Given the description of an element on the screen output the (x, y) to click on. 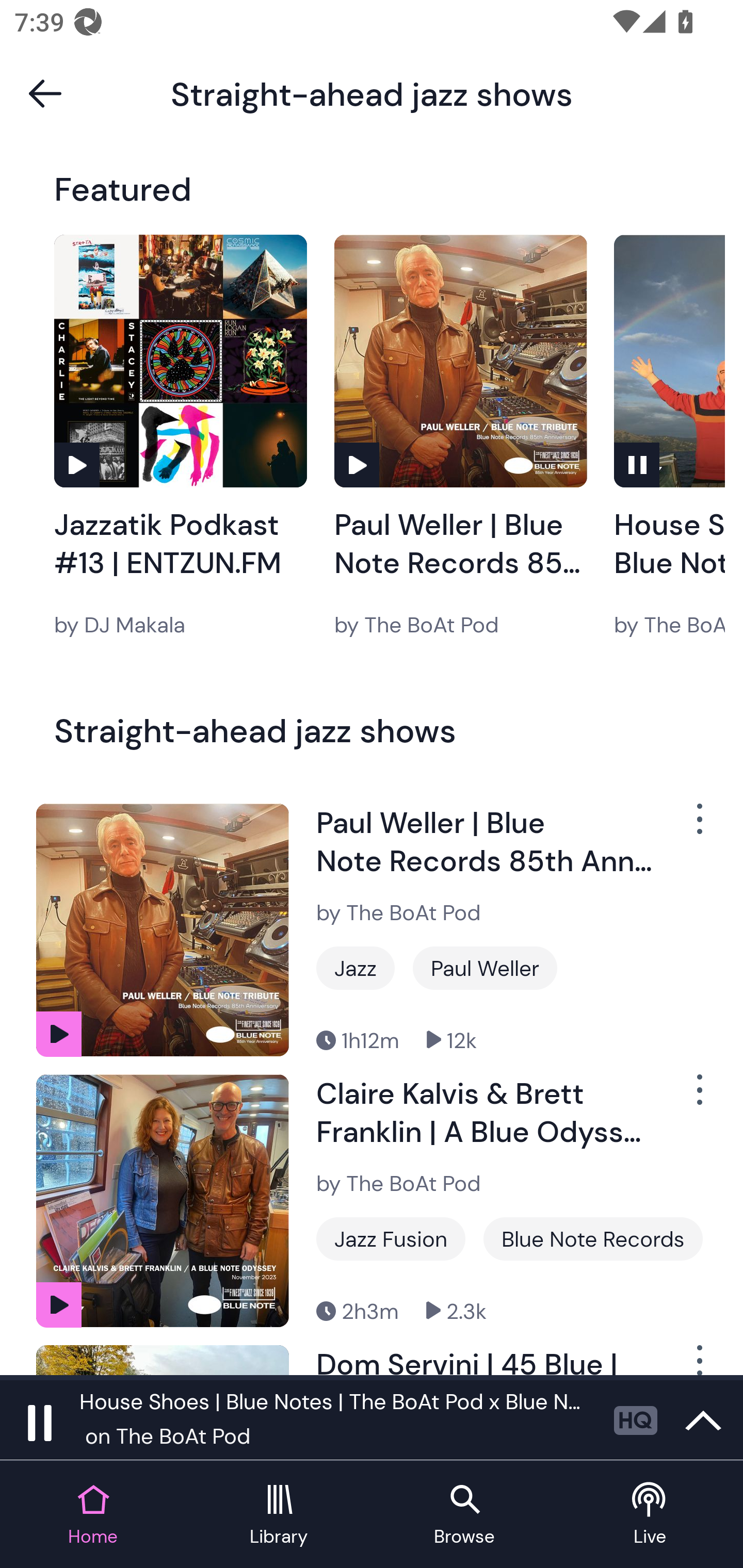
Show Options Menu Button (697, 825)
Jazz (355, 968)
Paul Weller (485, 968)
Show Options Menu Button (697, 1097)
Jazz Fusion (390, 1238)
Blue Note Records (592, 1238)
Show Options Menu Button (697, 1360)
Home tab Home (92, 1515)
Library tab Library (278, 1515)
Browse tab Browse (464, 1515)
Live tab Live (650, 1515)
